Given the description of an element on the screen output the (x, y) to click on. 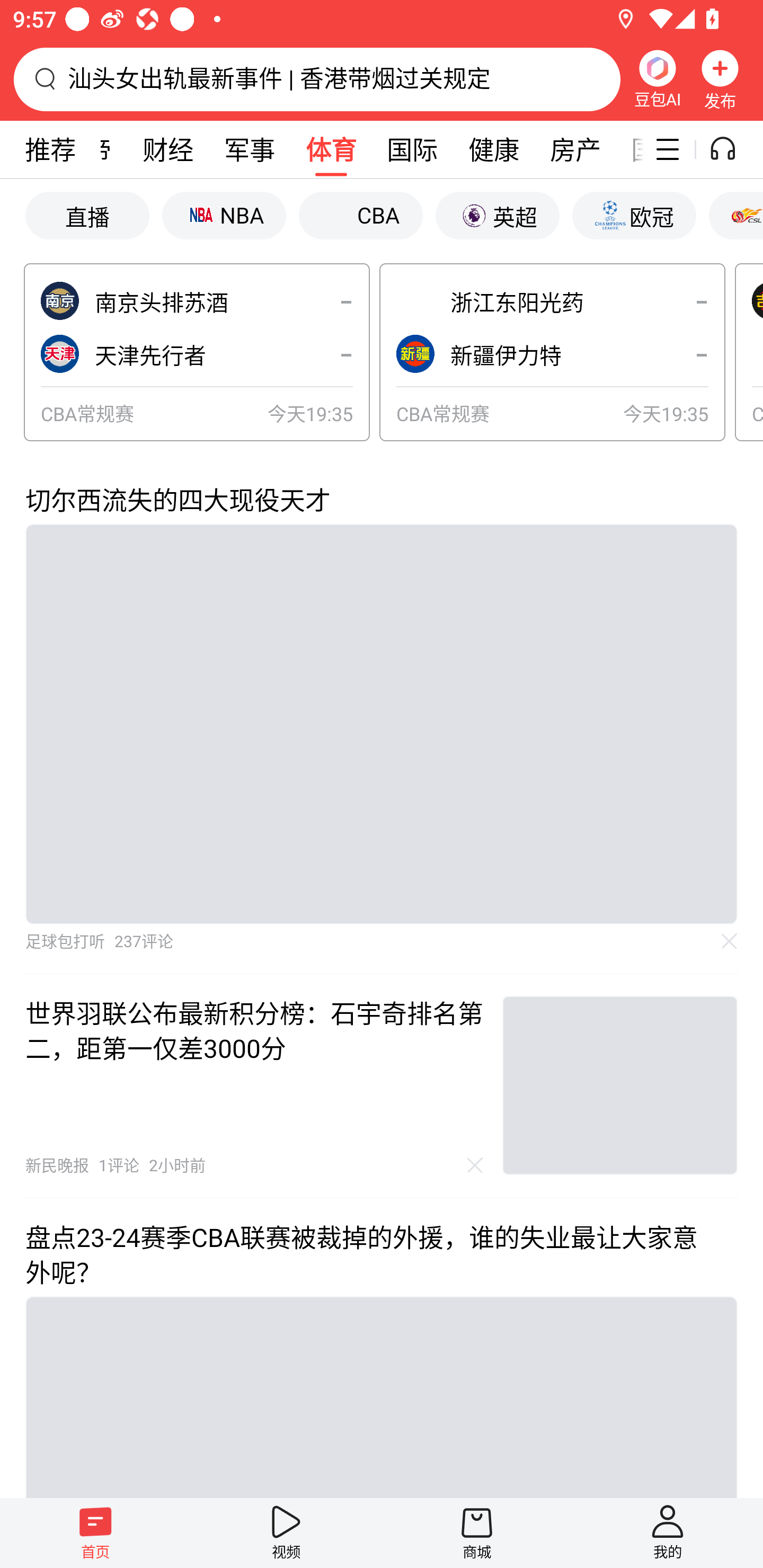
汕头女出轨最新事件 | 香港带烟过关规定 搜索框，汕头女出轨最新事件 | 香港带烟过关规定 (316, 79)
豆包AI AI回答，按钮 (657, 78)
发布 发布，按钮 (720, 78)
懂车帝 (72, 149)
财经 (167, 149)
军事 (249, 149)
体育 (331, 149)
国际 (412, 149)
健康 (493, 149)
房产 (575, 149)
听一听开关 (732, 149)
直播 (87, 215)
NBA (223, 215)
CBA (360, 215)
英超 (497, 215)
欧冠 (633, 215)
切尔西流失的四大现役天才 作者为  足球包打听  237评论   不感兴趣 (381, 716)
不感兴趣 (729, 940)
不感兴趣 (474, 1164)
盘点23-24赛季CBA联赛被裁掉的外援，谁的失业最让大家意
外呢？ (381, 1347)
首页 (95, 1532)
视频 (285, 1532)
商城 (476, 1532)
我的 (667, 1532)
